Given the description of an element on the screen output the (x, y) to click on. 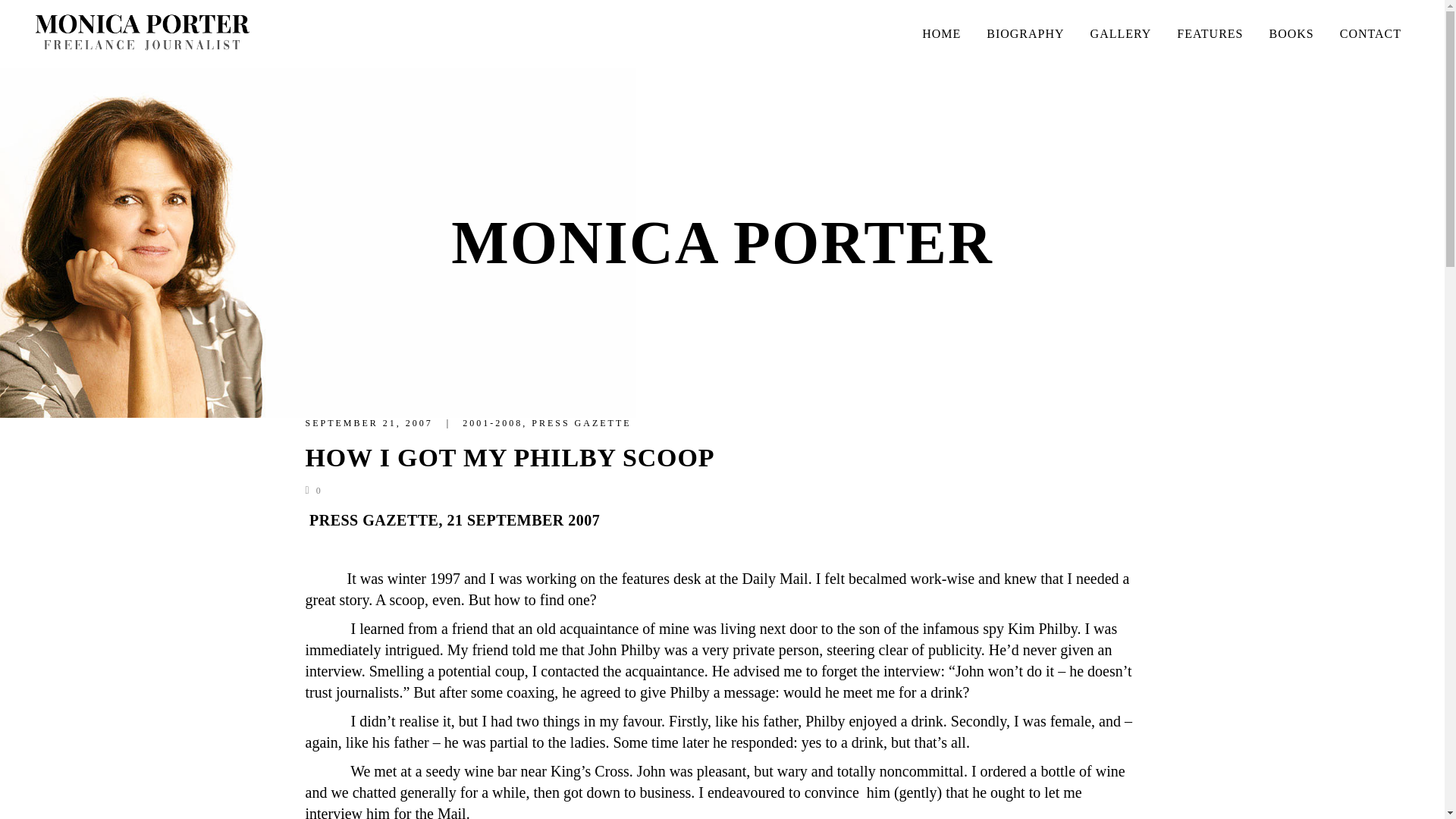
GALLERY (1120, 33)
FEATURES (1209, 33)
CONTACT (1369, 33)
BIOGRAPHY (1025, 33)
BOOKS (1290, 33)
HOME (941, 33)
Like this (312, 490)
